Given the description of an element on the screen output the (x, y) to click on. 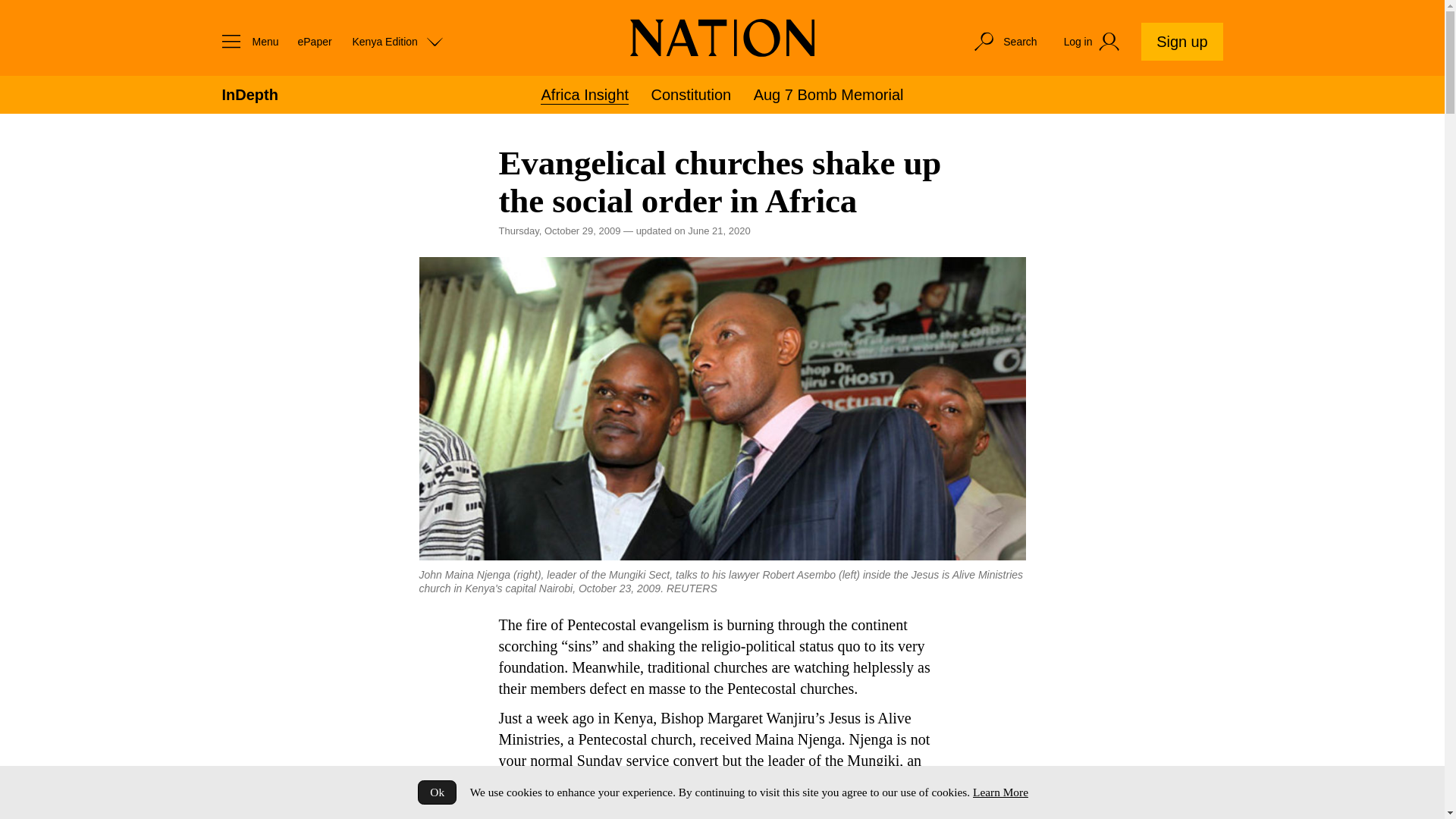
Sign up (1182, 41)
Menu (246, 41)
InDepth (249, 94)
Log in (1094, 41)
Ok (437, 792)
Kenya Edition (398, 41)
Learn More (999, 791)
Search (1003, 41)
Constitution (691, 94)
Learn More (999, 791)
Africa Insight (584, 95)
Aug 7 Bomb Memorial (829, 94)
ePaper (314, 41)
